Given the description of an element on the screen output the (x, y) to click on. 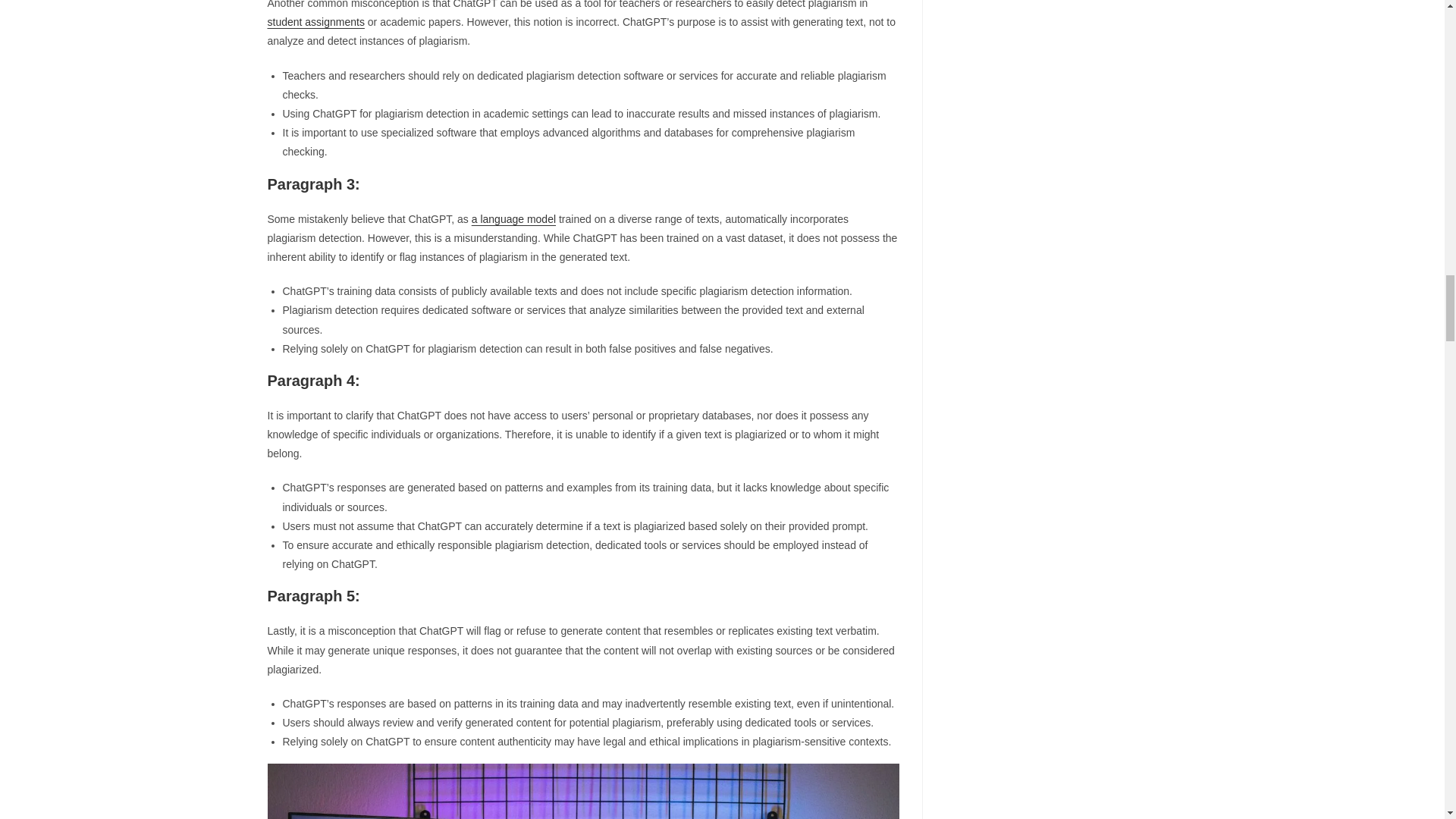
a language model (513, 218)
Can ChatGPT Check for Plagiarism? (582, 790)
student assignments (315, 21)
